Given the description of an element on the screen output the (x, y) to click on. 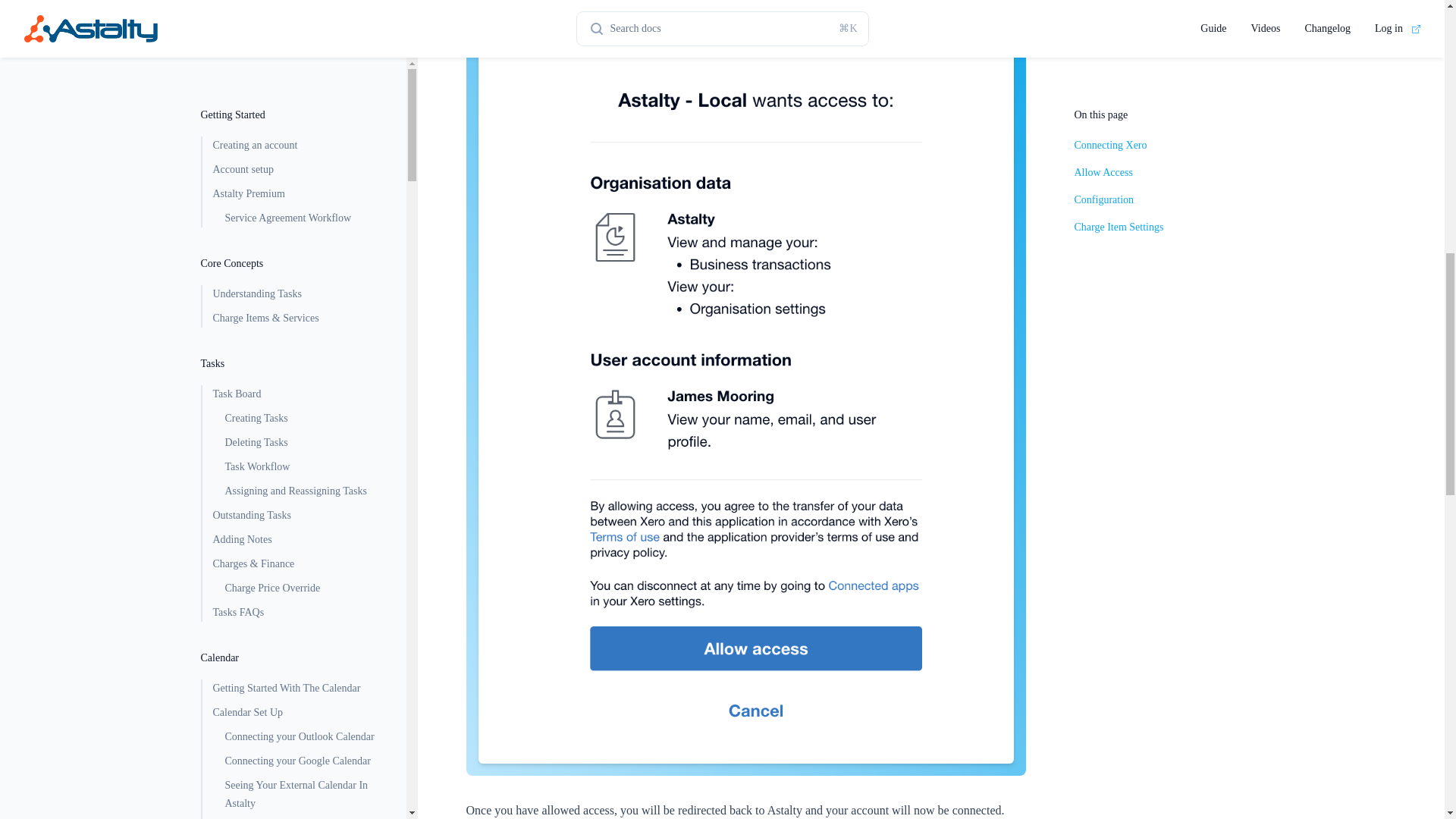
Records (297, 412)
Tags (303, 290)
Budgets (297, 673)
Creating an Event Using The Google Calendar Integration (303, 133)
Templates (297, 746)
Utilisation (297, 648)
Documents (297, 436)
Calendar Events and Tasks (303, 57)
NDIS Templates (303, 794)
Creating an Event Using The Google Calendar Integration (303, 133)
